Given the description of an element on the screen output the (x, y) to click on. 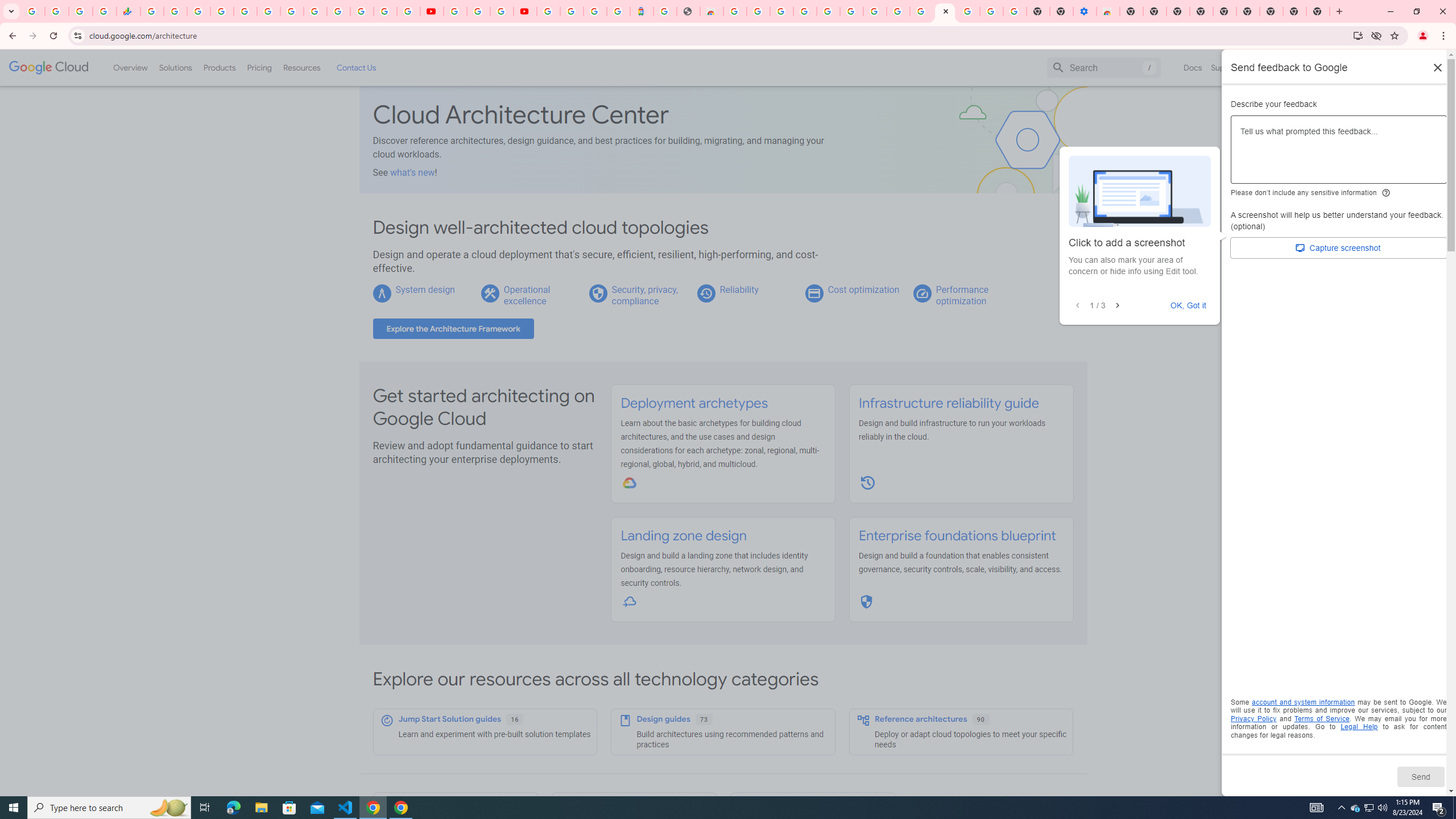
Operational excellence (526, 295)
Sign in - Google Accounts (571, 11)
